Given the description of an element on the screen output the (x, y) to click on. 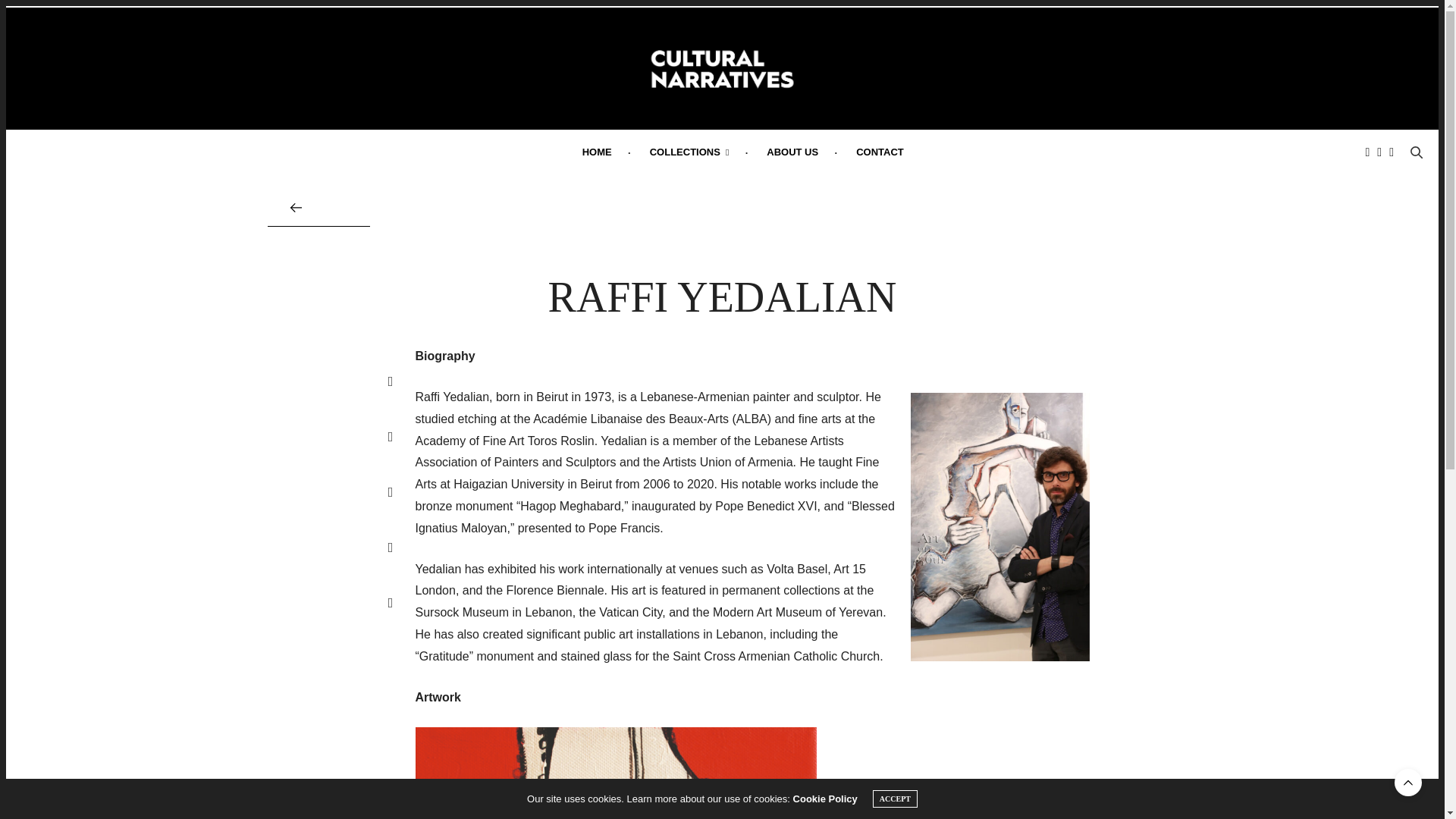
Cultural Narratives (722, 68)
COLLECTIONS (689, 152)
Scroll To Top (1408, 782)
HOME (597, 152)
